Given the description of an element on the screen output the (x, y) to click on. 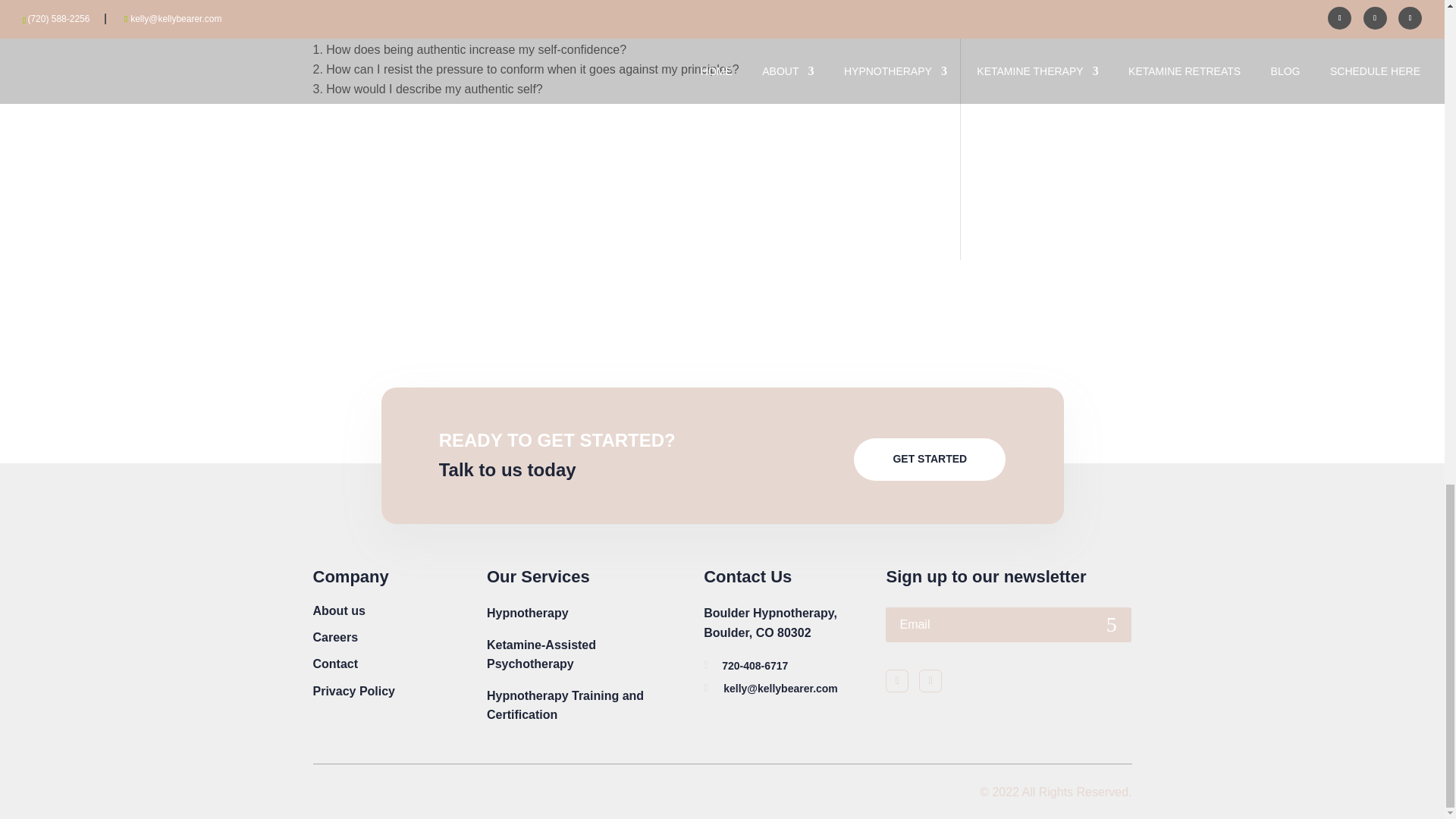
Page 1 (614, 58)
Follow on Instagram (930, 680)
Follow on Facebook (896, 680)
